Given the description of an element on the screen output the (x, y) to click on. 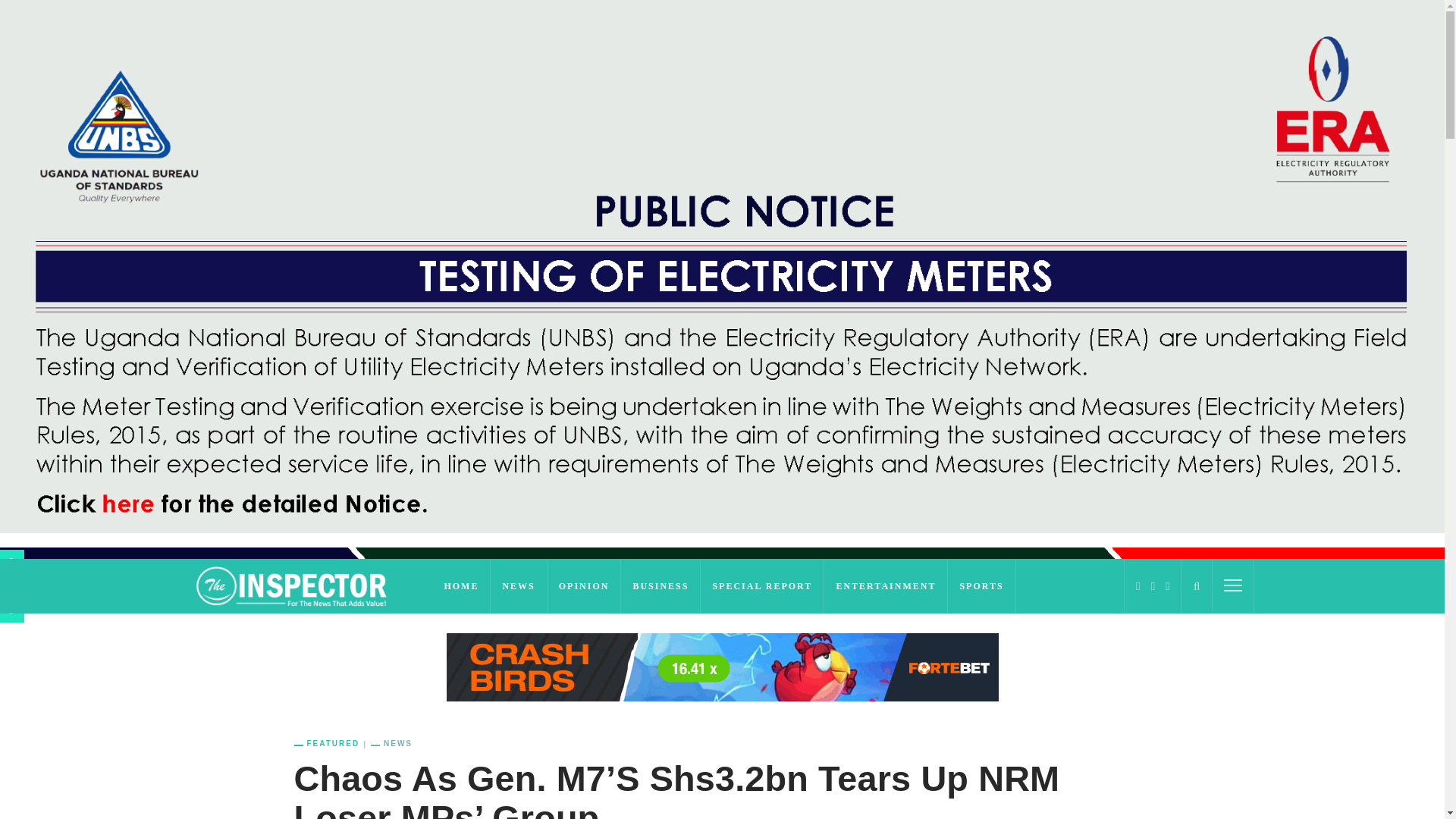
The Inspector (303, 585)
BUSINESS (660, 585)
NEWS (518, 585)
SPORTS (980, 585)
OPINION (584, 585)
NEWS (391, 743)
ENTERTAINMENT (885, 585)
FEATURED (332, 743)
HOME (461, 585)
SPECIAL REPORT (762, 585)
